Given the description of an element on the screen output the (x, y) to click on. 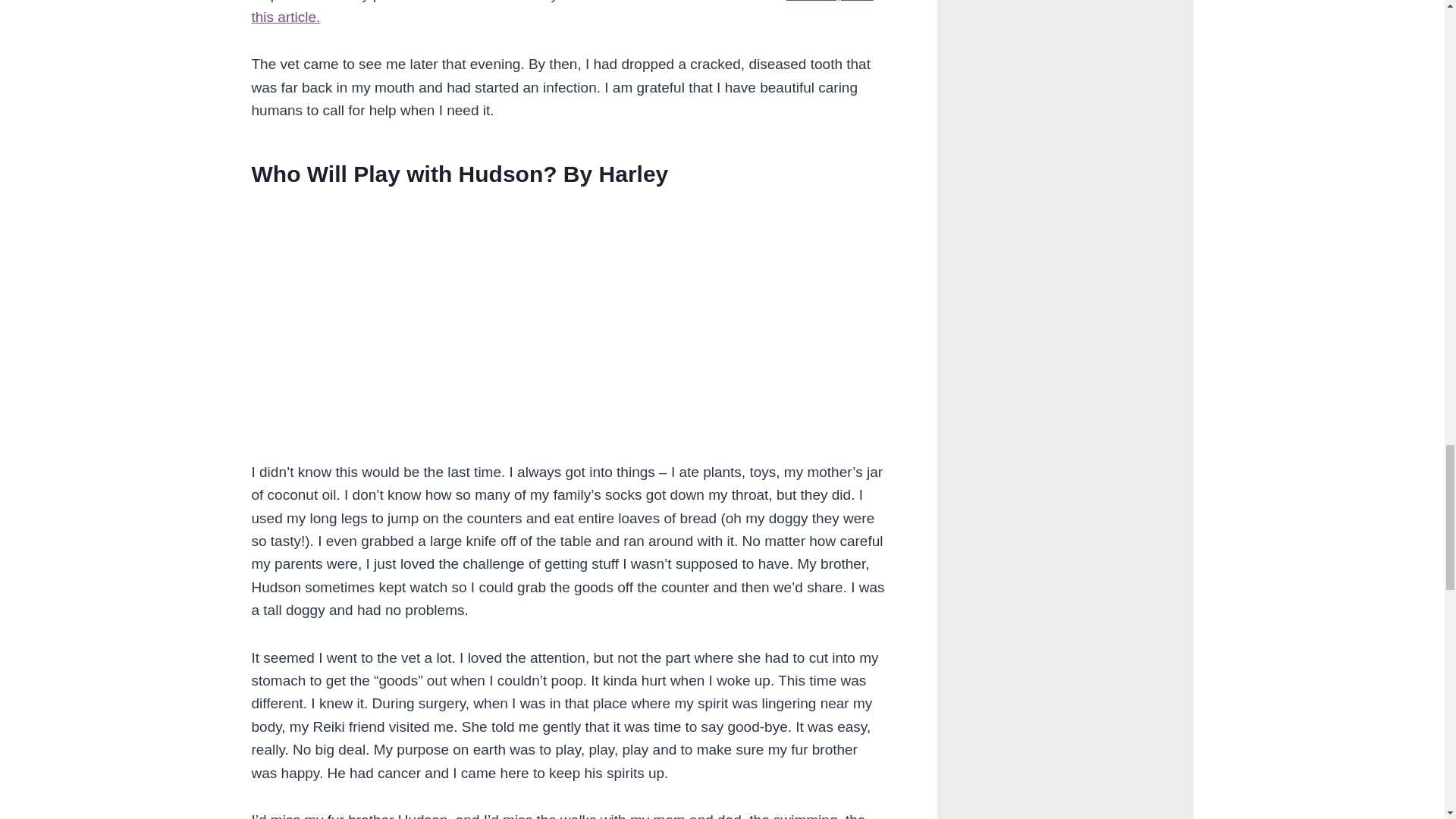
chakras, read this article. (562, 12)
